Given the description of an element on the screen output the (x, y) to click on. 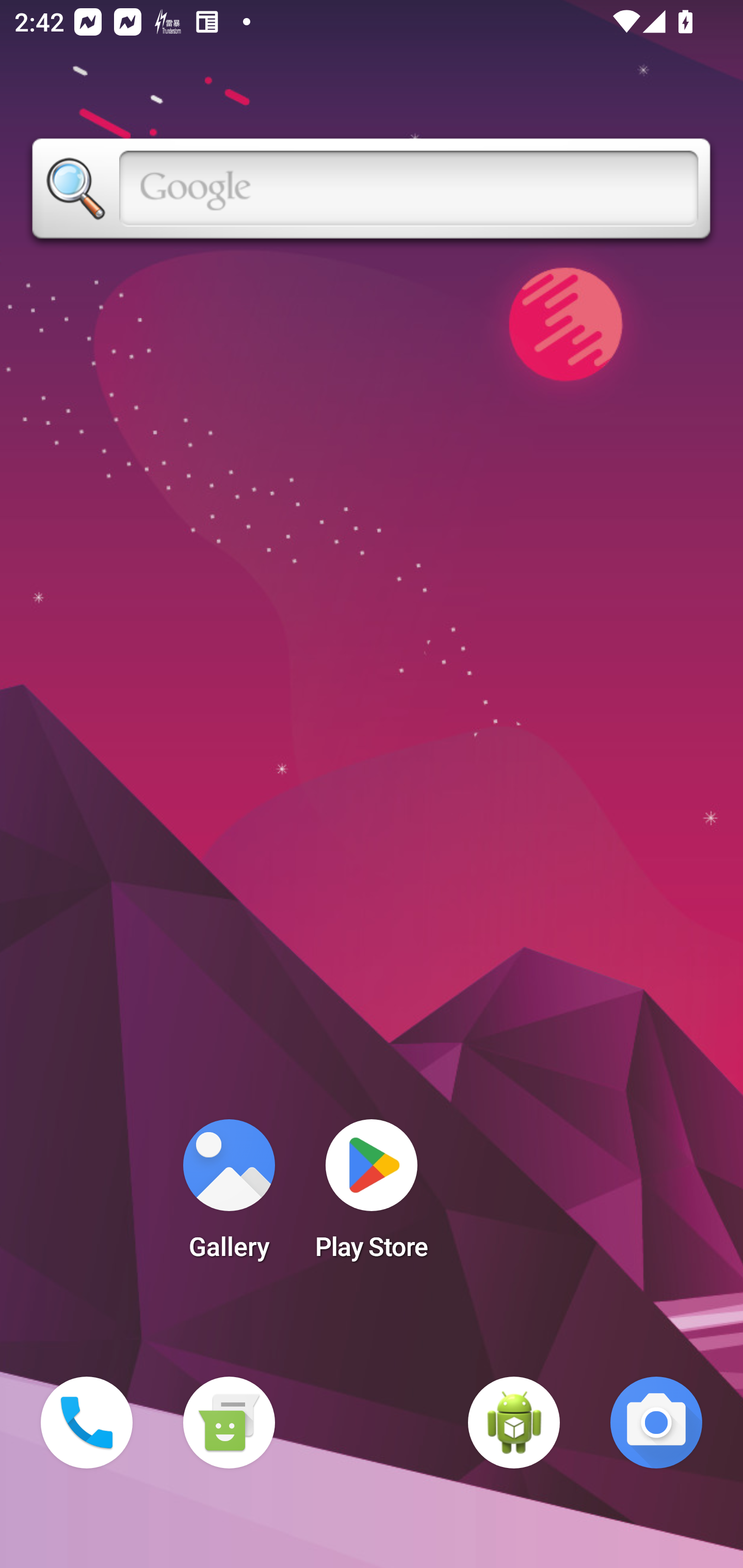
Gallery (228, 1195)
Play Store (371, 1195)
Phone (86, 1422)
Messaging (228, 1422)
WebView Browser Tester (513, 1422)
Camera (656, 1422)
